Given the description of an element on the screen output the (x, y) to click on. 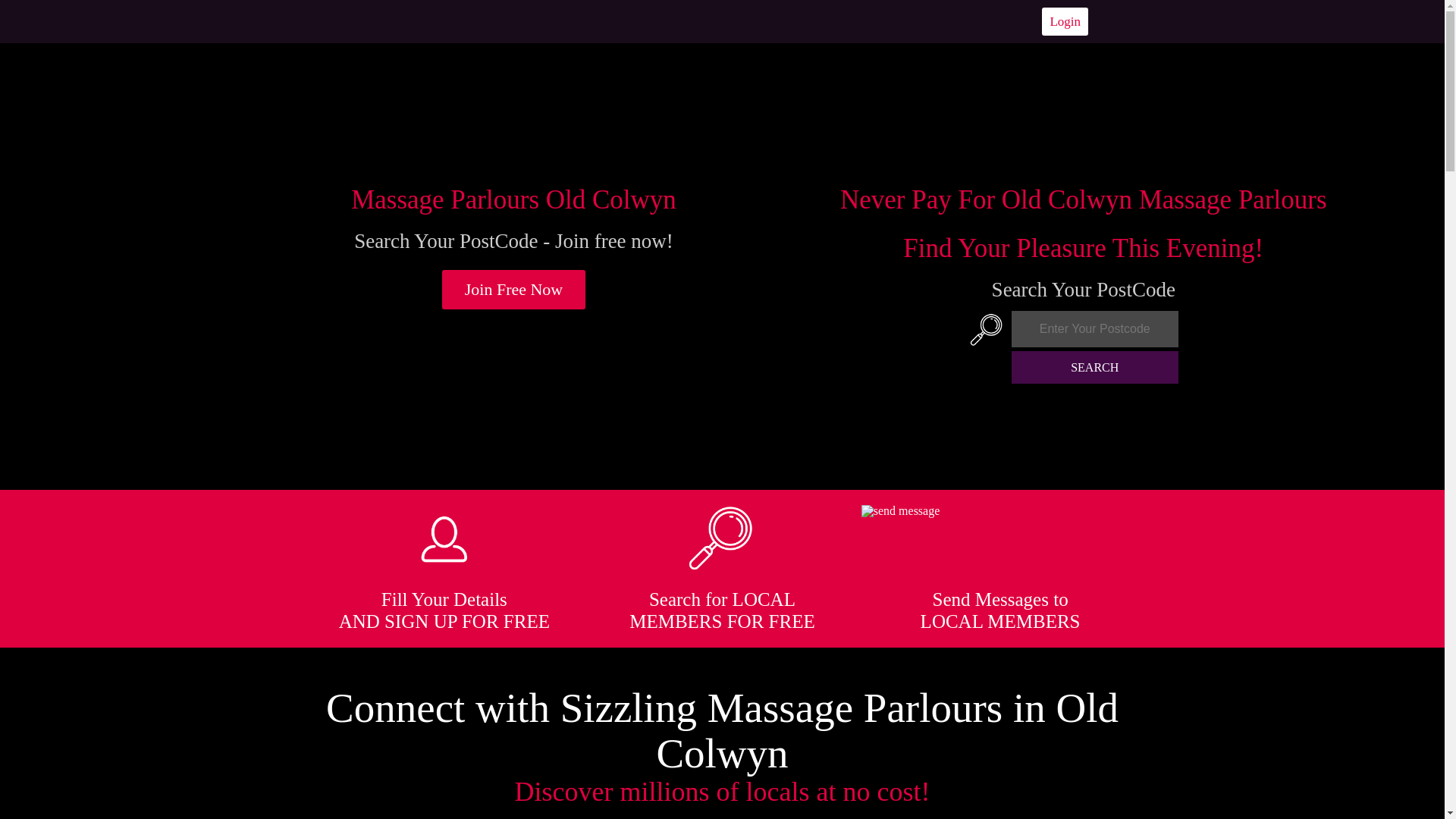
Login (1064, 21)
SEARCH (1094, 367)
Join Free Now (514, 289)
Login (1064, 21)
Join (514, 289)
